Given the description of an element on the screen output the (x, y) to click on. 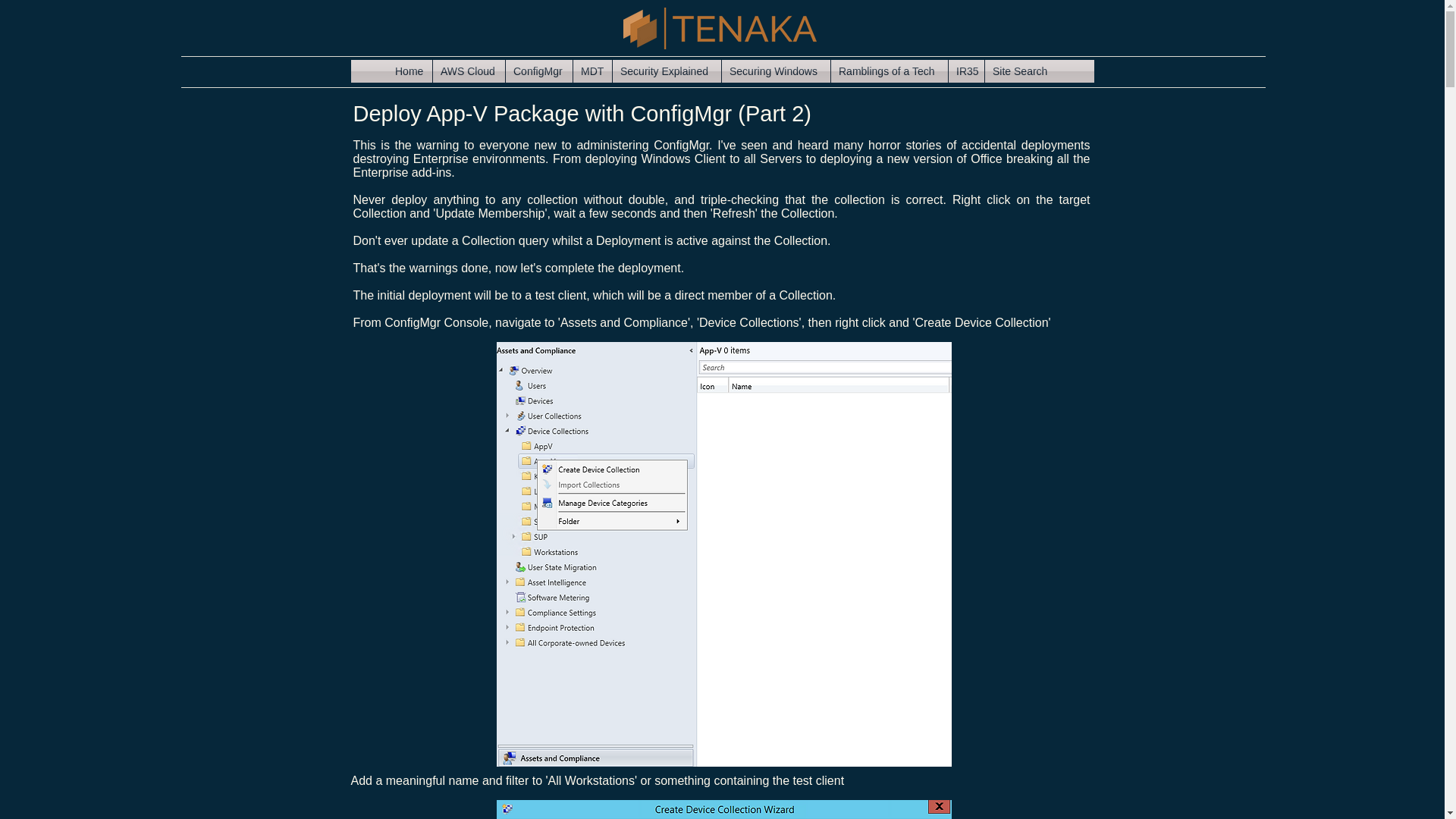
Original on Transparent.png (719, 28)
MDT (592, 70)
Home (409, 70)
coll2.PNG (723, 809)
